Given the description of an element on the screen output the (x, y) to click on. 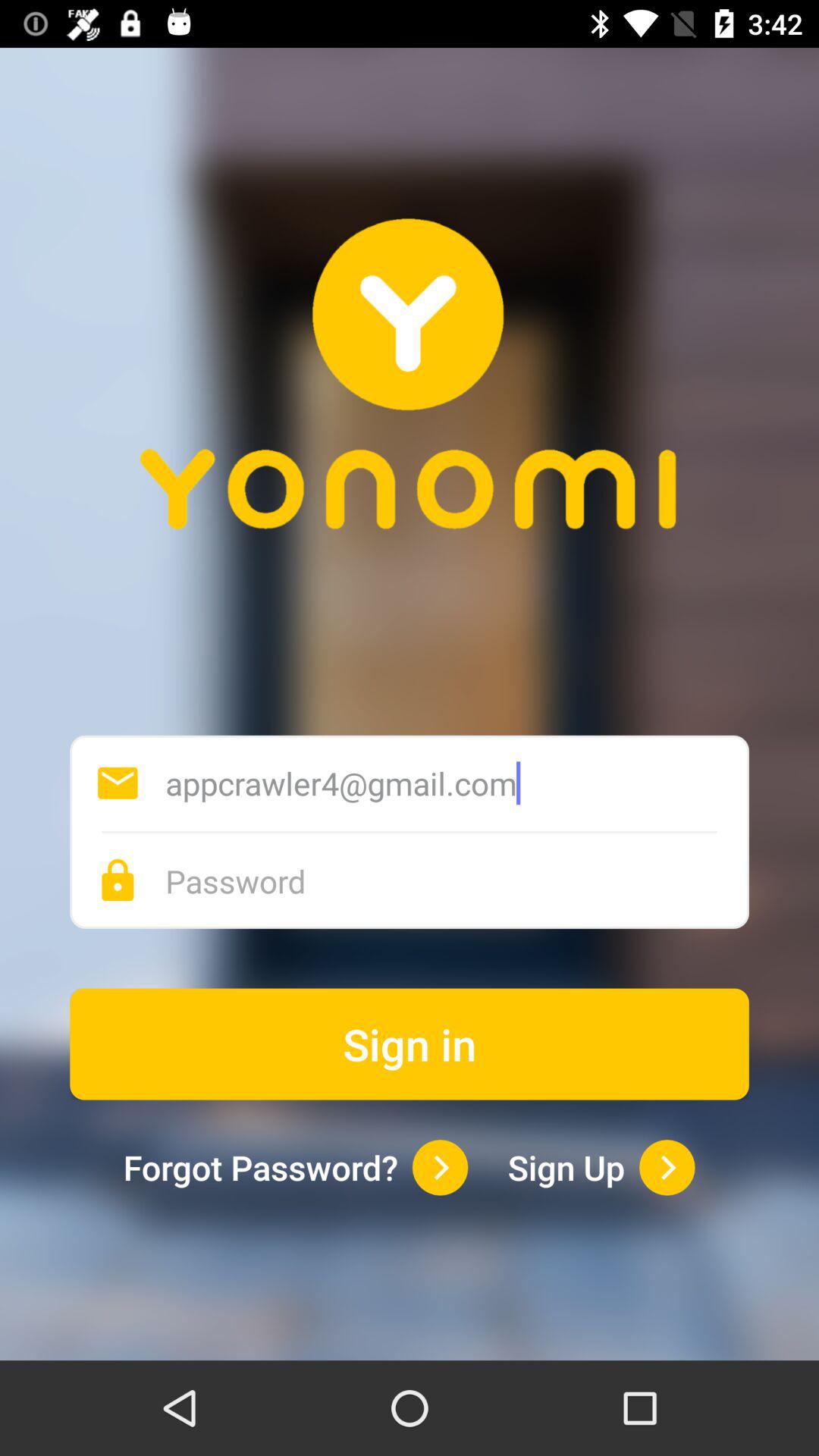
enter password (457, 880)
